Given the description of an element on the screen output the (x, y) to click on. 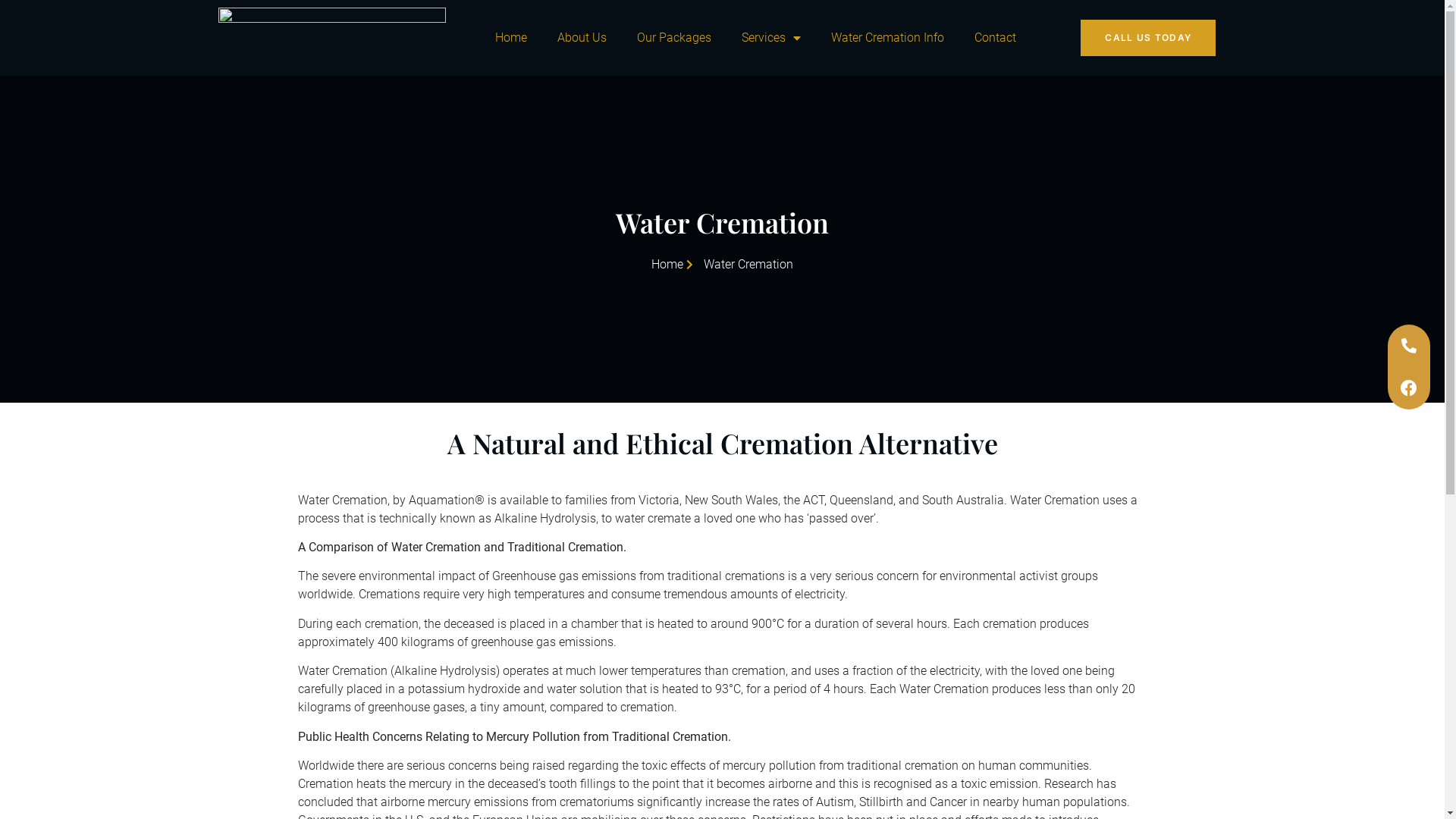
Our Packages Element type: text (673, 37)
Contact Element type: text (995, 37)
CALL US TODAY Element type: text (1147, 37)
Home Element type: text (511, 37)
About Us Element type: text (581, 37)
Water Cremation Info Element type: text (887, 37)
Services Element type: text (770, 37)
